Given the description of an element on the screen output the (x, y) to click on. 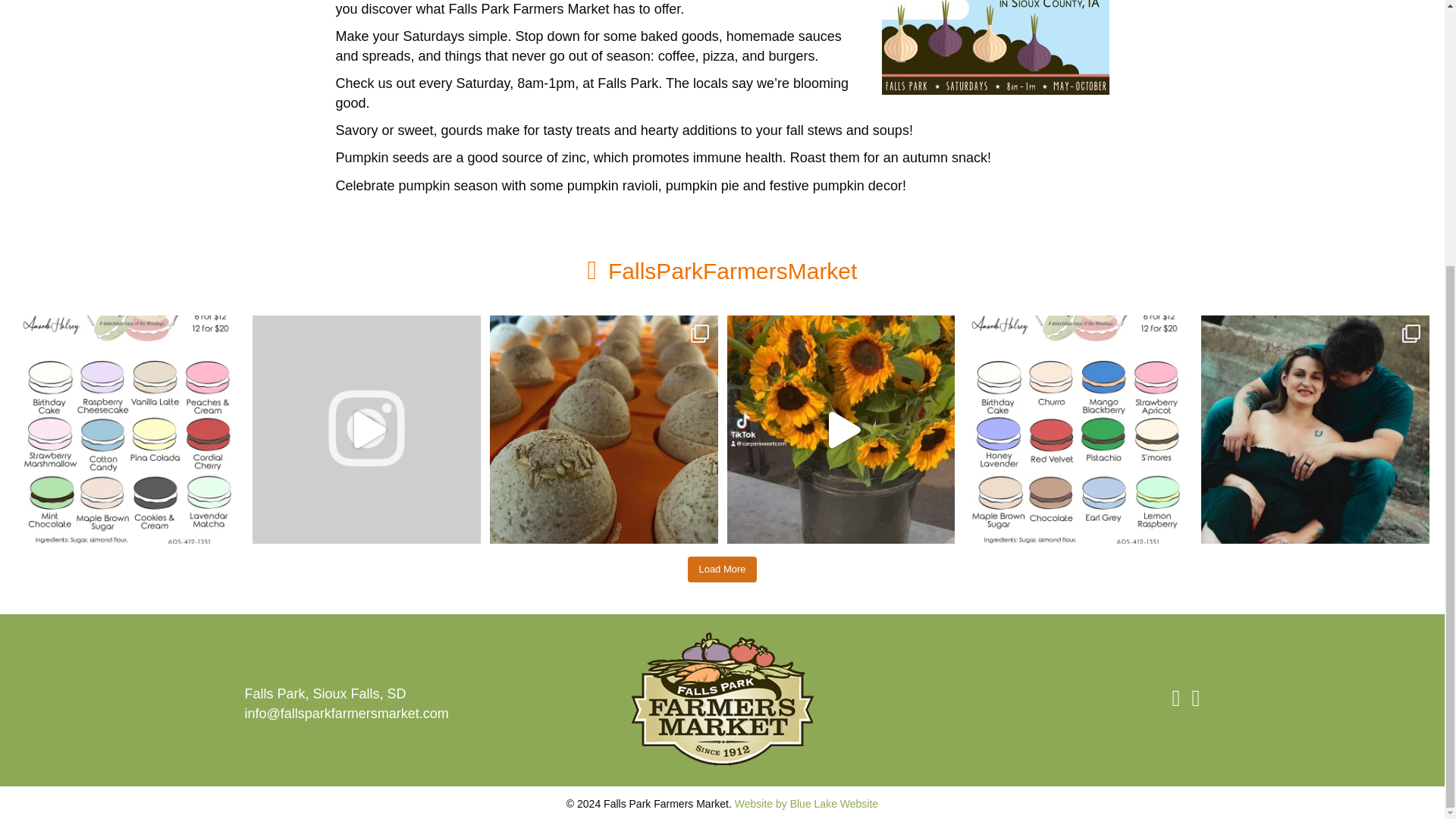
fpfmlogo (721, 700)
FallsParkFarmersMarket (732, 271)
Website by Blue Lake Website (806, 803)
Load More (721, 569)
